Given the description of an element on the screen output the (x, y) to click on. 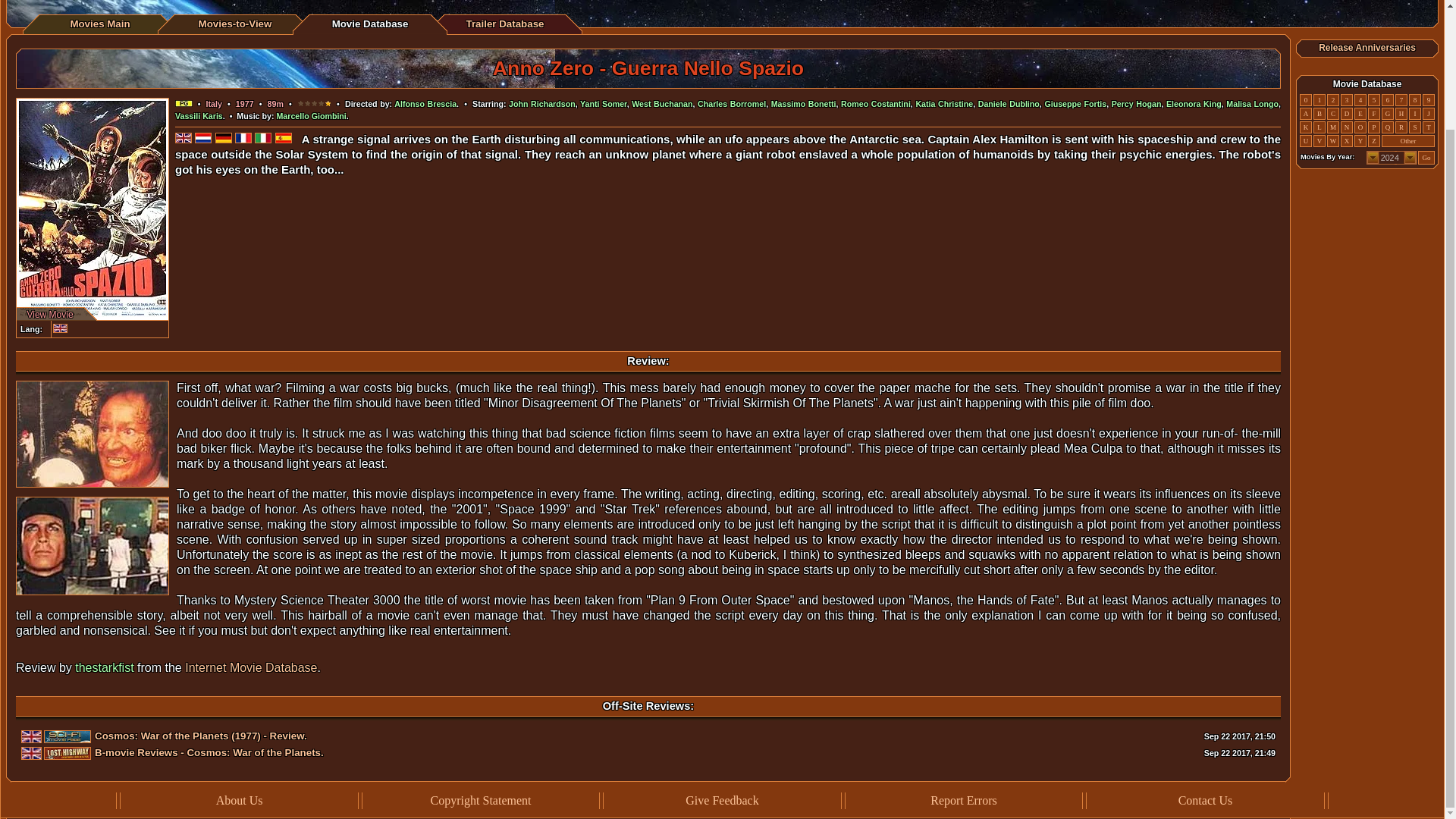
Movies-to-View (235, 23)
English Language (31, 736)
Release Anniversaries (1367, 47)
Movies Main (99, 23)
English Language (31, 753)
Internet Movie Database (250, 667)
B-movie Reviews - Cosmos: War of the Planets. (208, 752)
Trailer Database (504, 23)
English (59, 327)
